Given the description of an element on the screen output the (x, y) to click on. 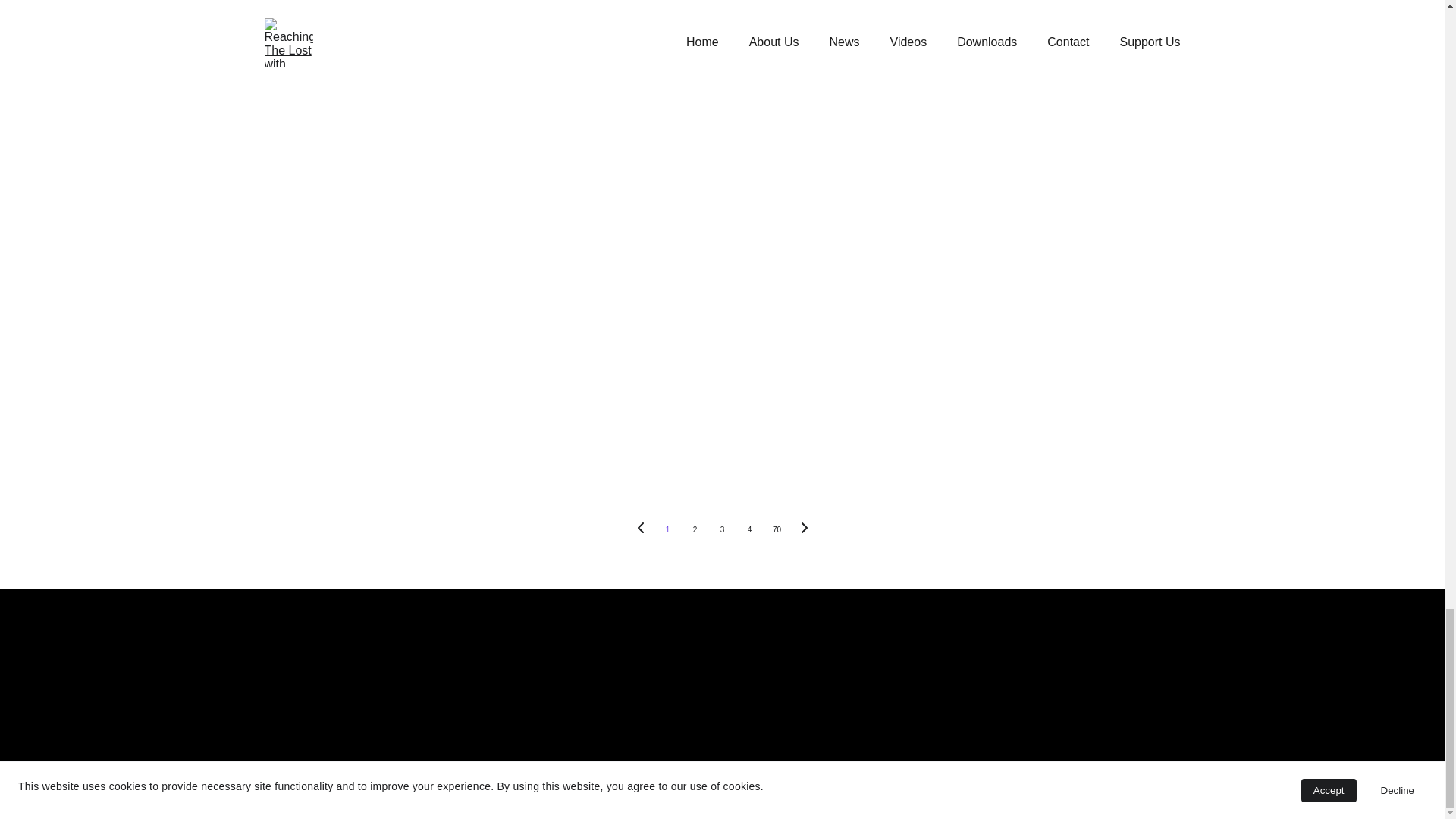
2 (694, 529)
1 (667, 529)
70 (776, 529)
3 (721, 529)
4 (748, 529)
